Given the description of an element on the screen output the (x, y) to click on. 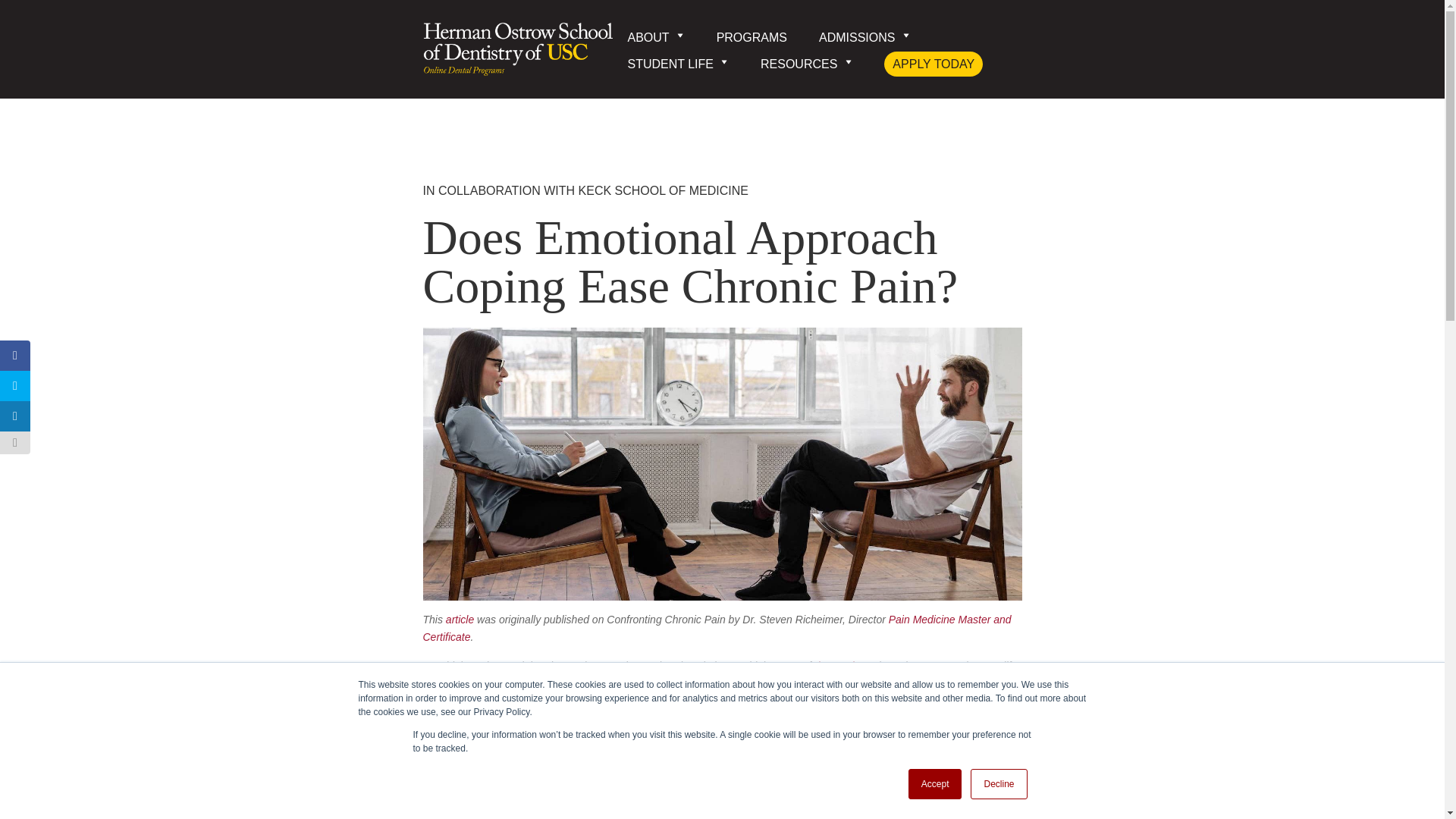
ABOUT (655, 40)
OSTLogo (517, 50)
PROGRAMS (751, 40)
RESOURCES (805, 68)
STUDENT LIFE (678, 68)
Decline (998, 784)
ADMISSIONS (864, 40)
APPLY TODAY (932, 63)
Accept (935, 784)
